Given the description of an element on the screen output the (x, y) to click on. 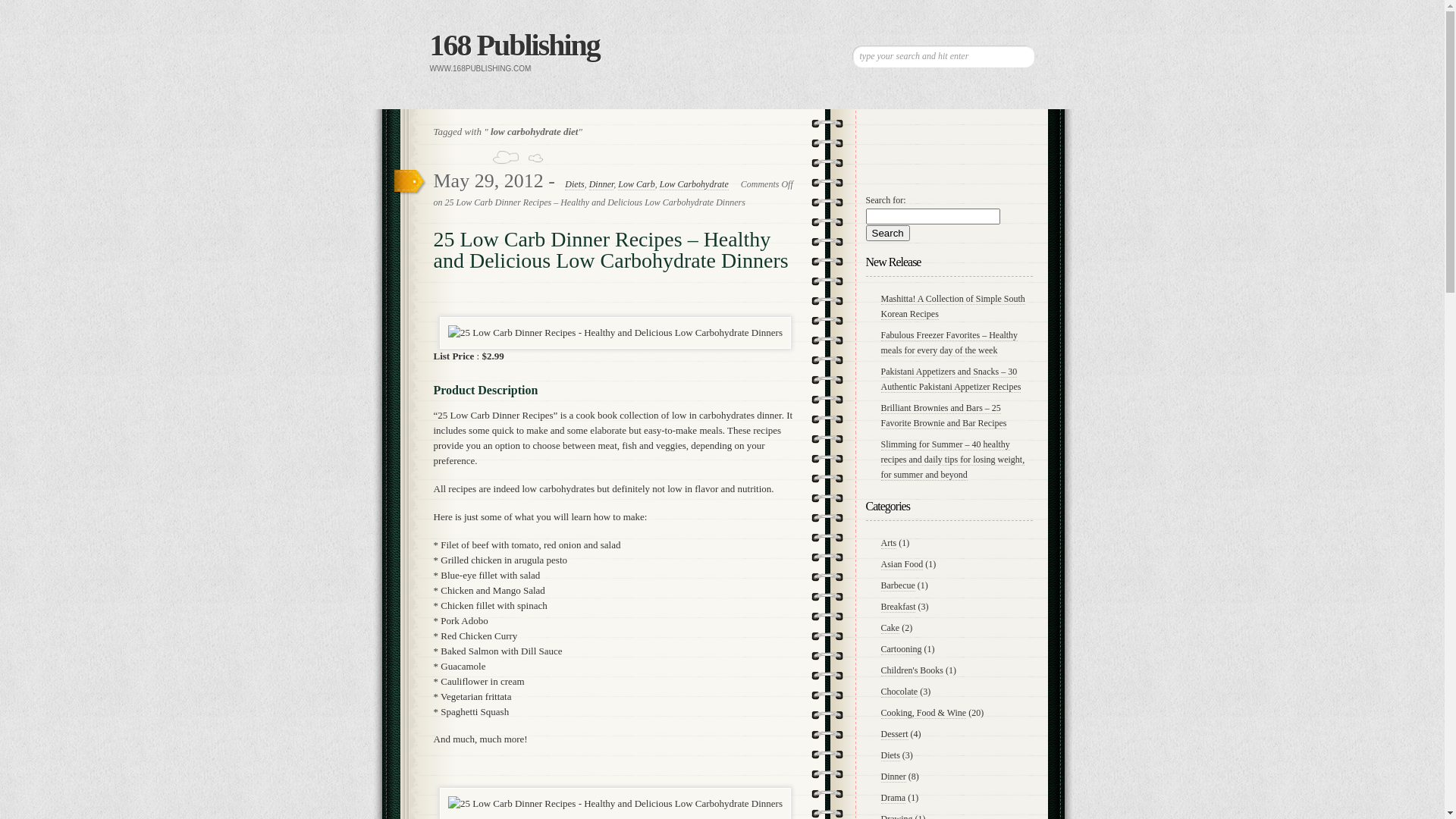
Diets Element type: text (573, 184)
Low Carbohydrate Element type: text (693, 184)
Breakfast Element type: text (898, 605)
Drama Element type: text (893, 797)
Diets Element type: text (890, 754)
Dinner Element type: text (601, 184)
"Join Us on Facebook! Element type: text (933, 118)
Chocolate Element type: text (899, 690)
168 Publishing Element type: text (514, 45)
Arts Element type: text (889, 542)
Cake Element type: text (890, 627)
Children's Books Element type: text (912, 669)
Mashitta! A Collection of Simple South Korean Recipes Element type: text (953, 305)
Asian Food Element type: text (902, 563)
Follow Us on Twitter! Element type: text (883, 118)
Dessert Element type: text (894, 733)
Search Element type: text (888, 232)
Barbecue Element type: text (898, 584)
RSS Element type: text (985, 118)
Dinner Element type: text (893, 775)
Cooking, Food & Wine Element type: text (923, 712)
Low Carb Element type: text (636, 184)
Cartooning Element type: text (901, 648)
